Given the description of an element on the screen output the (x, y) to click on. 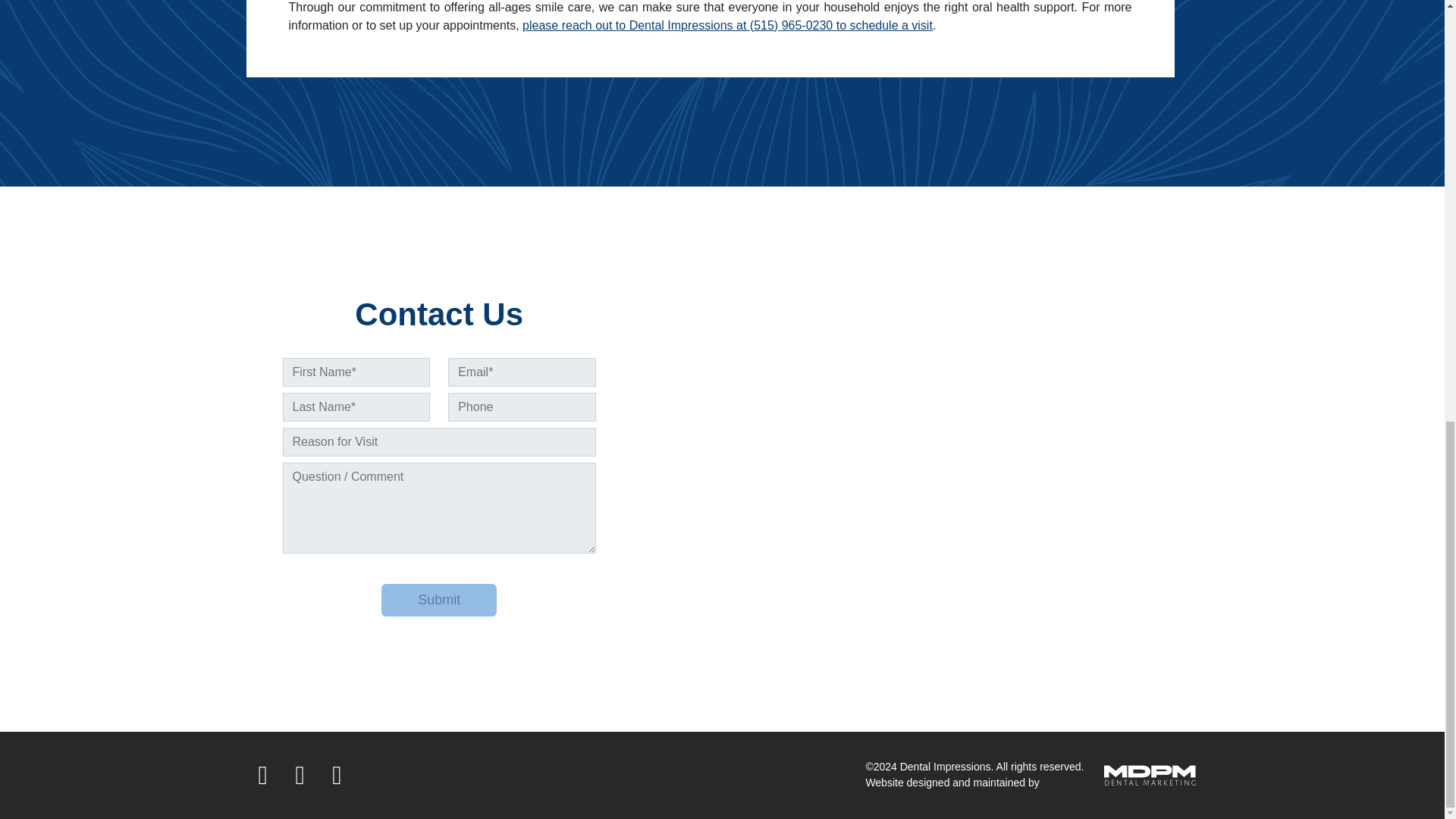
Submit (438, 599)
Submit (438, 599)
 The Convenient Option Of Dental Bonding (381, 85)
Have You Delayed Dental Work?  (1087, 85)
